Given the description of an element on the screen output the (x, y) to click on. 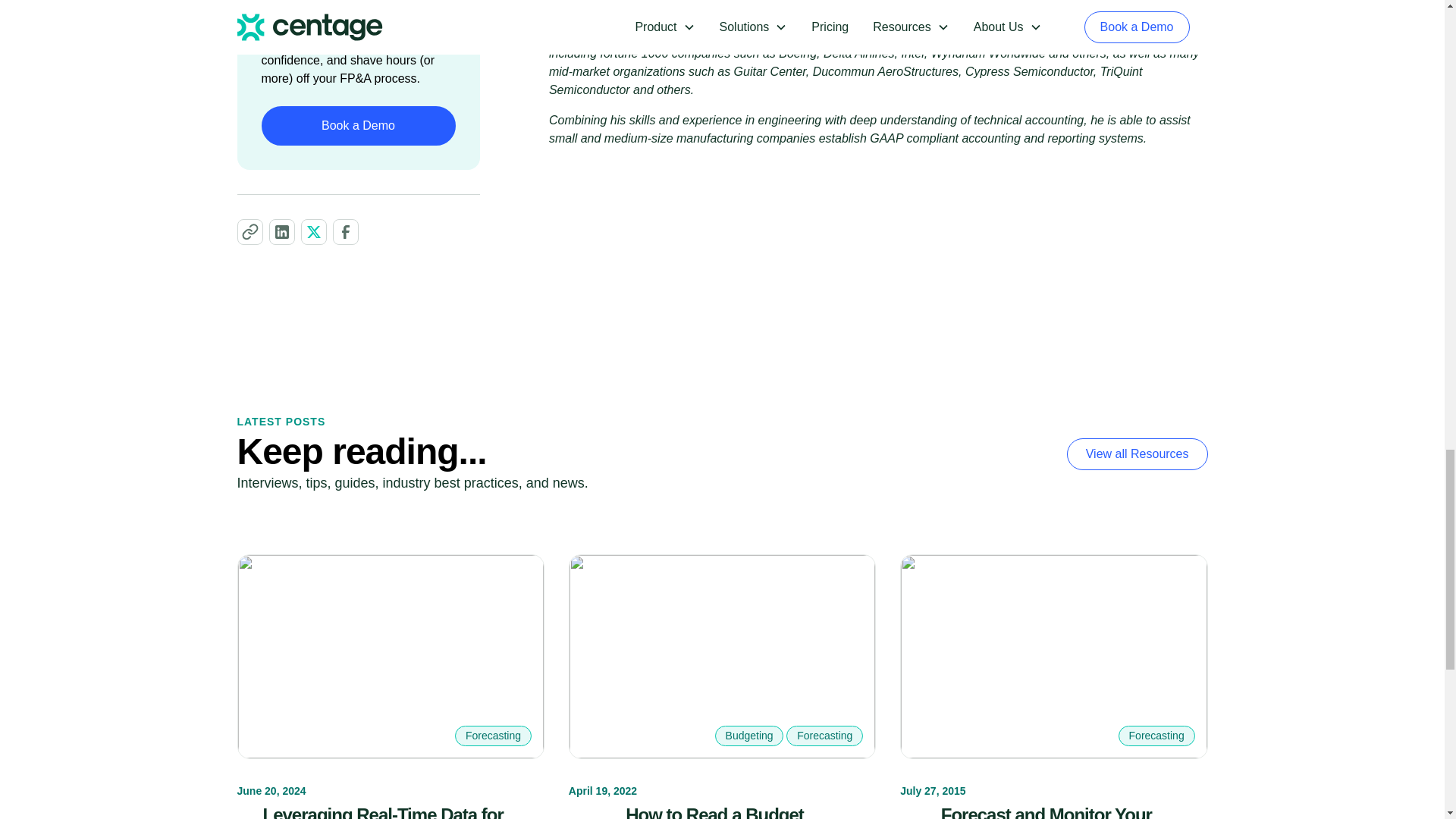
View all Resources (1137, 454)
